Given the description of an element on the screen output the (x, y) to click on. 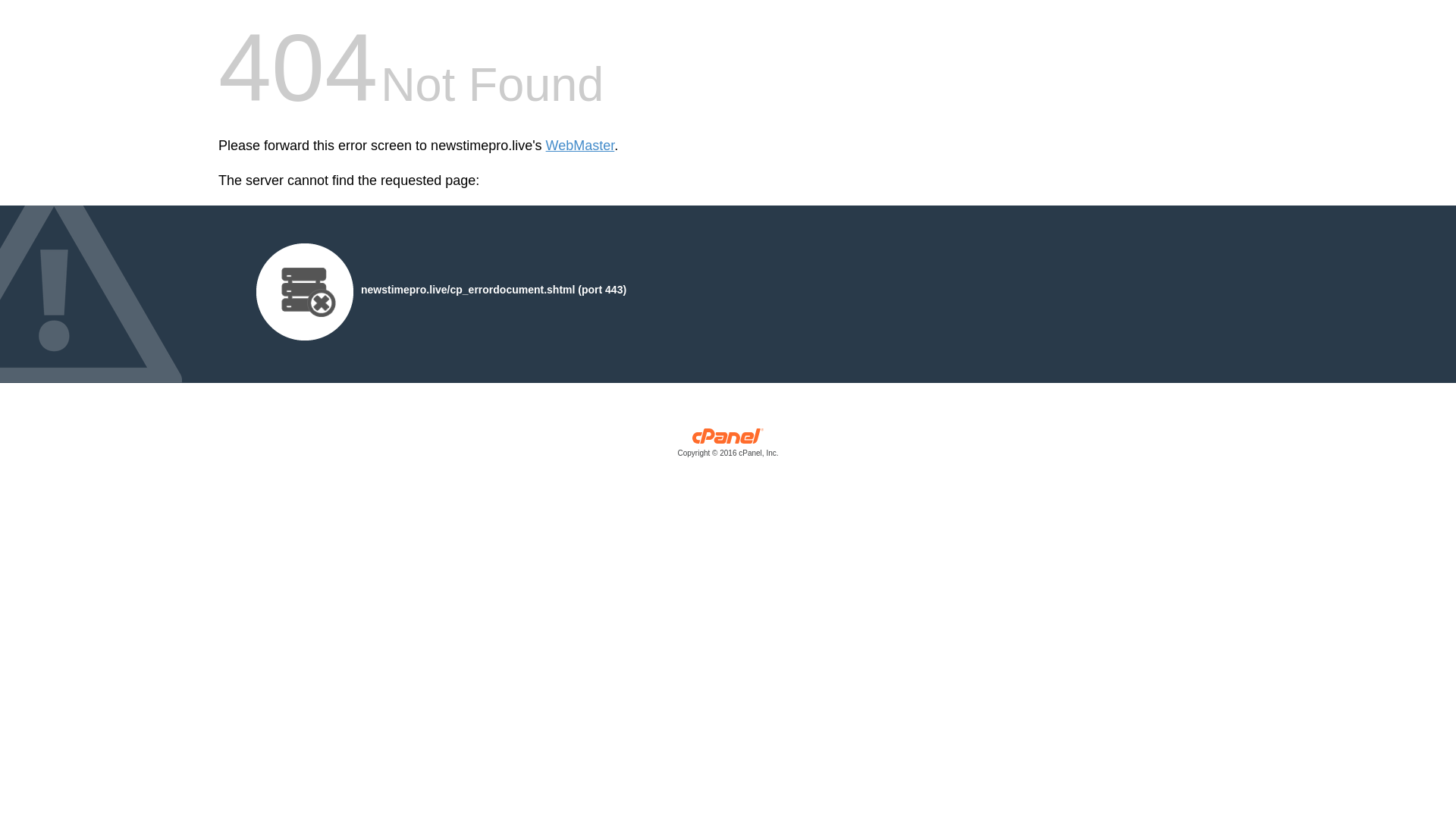
cPanel, Inc. (727, 446)
WebMaster (580, 145)
